Given the description of an element on the screen output the (x, y) to click on. 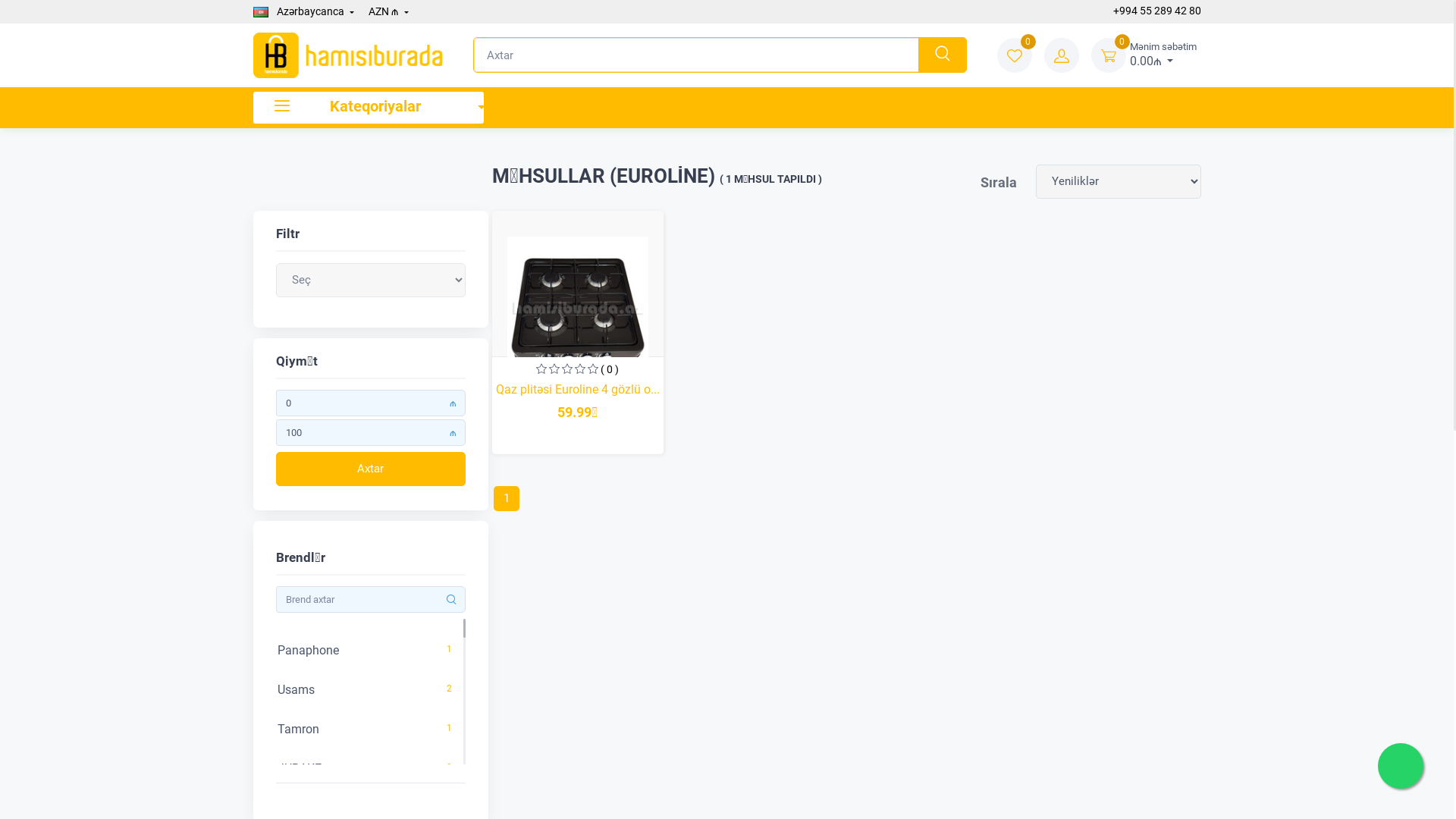
Panaphone
1 Element type: text (363, 650)
0 Element type: text (1, 462)
0 Element type: text (1013, 54)
0 Element type: text (1, 619)
Tamron
1 Element type: text (363, 729)
0 Element type: text (1, 698)
Kateqoriyalar Element type: text (368, 107)
0 Element type: text (1, 422)
0 Element type: text (1107, 54)
+994 55 289 42 80 Element type: text (1154, 11)
0 Element type: text (1, 738)
0 Element type: text (1, 659)
0 Element type: text (1, 580)
0 Element type: text (1, 541)
0 Element type: text (1, 501)
1 Element type: text (506, 498)
0 Element type: text (1, 383)
Usams
2 Element type: text (363, 689)
0 Element type: text (1, 786)
JUBAKE
2 Element type: text (363, 768)
Axtar Element type: text (370, 468)
